Given the description of an element on the screen output the (x, y) to click on. 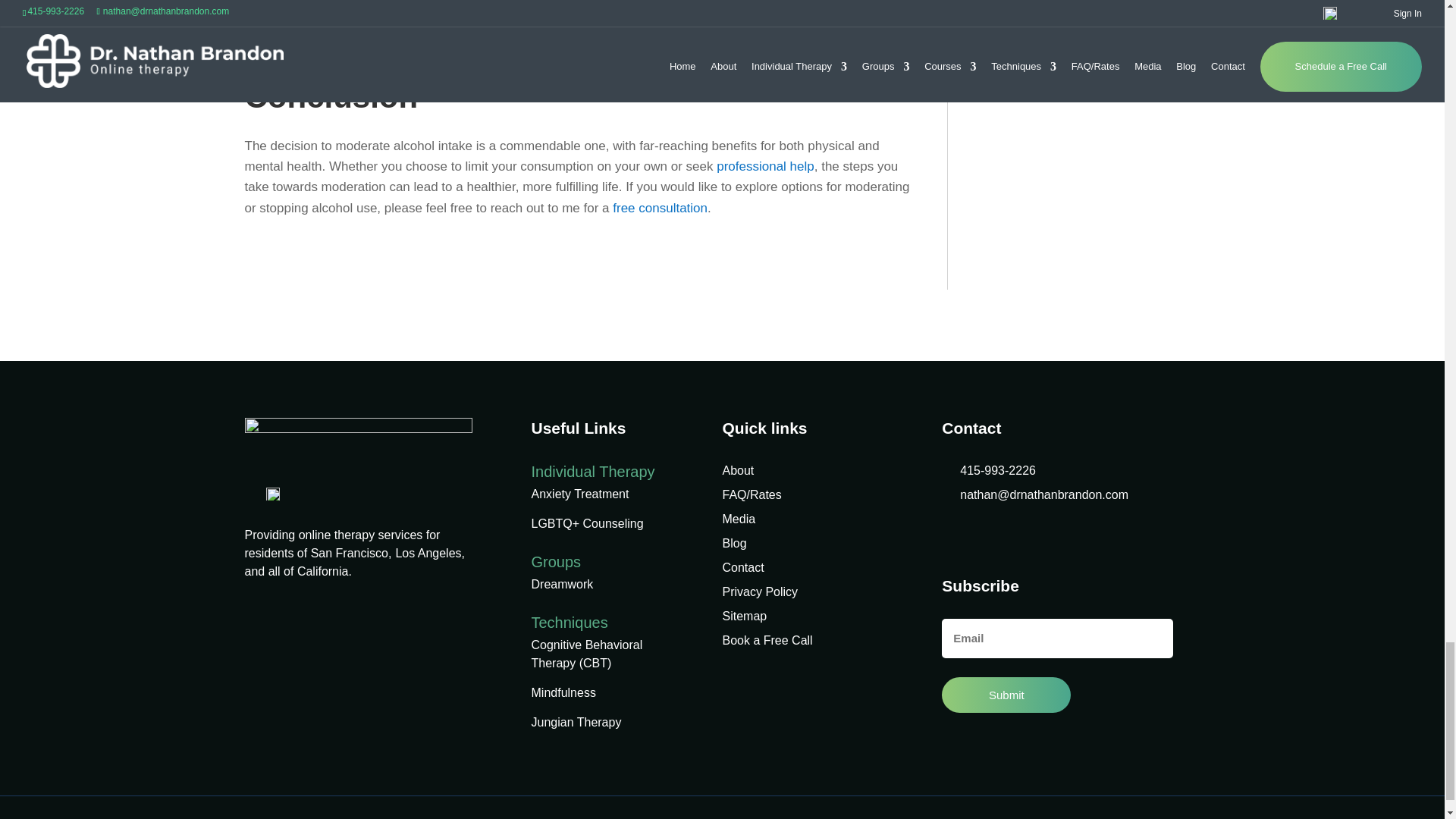
submit (1006, 694)
